Given the description of an element on the screen output the (x, y) to click on. 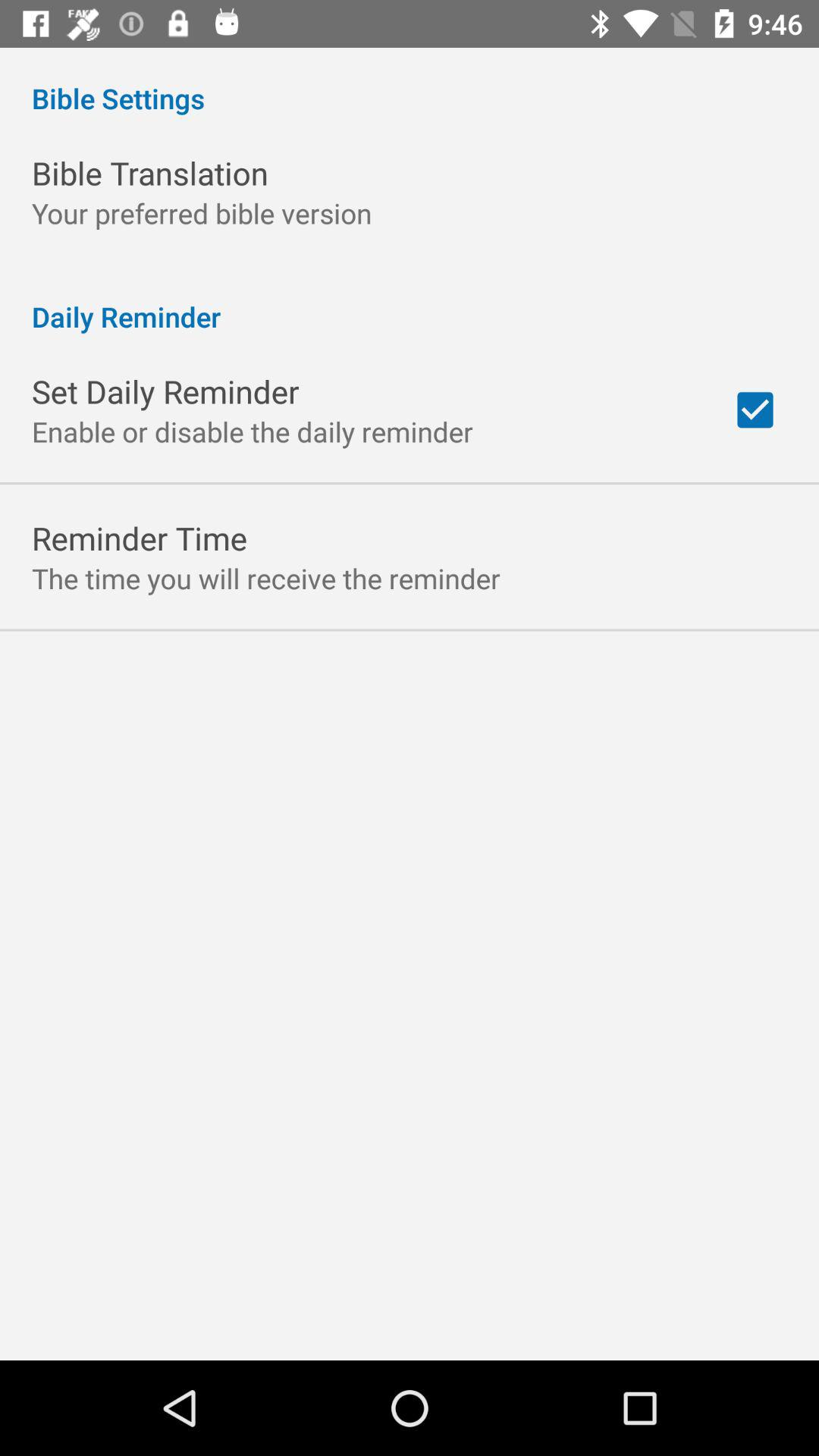
launch icon below the reminder time icon (265, 578)
